Given the description of an element on the screen output the (x, y) to click on. 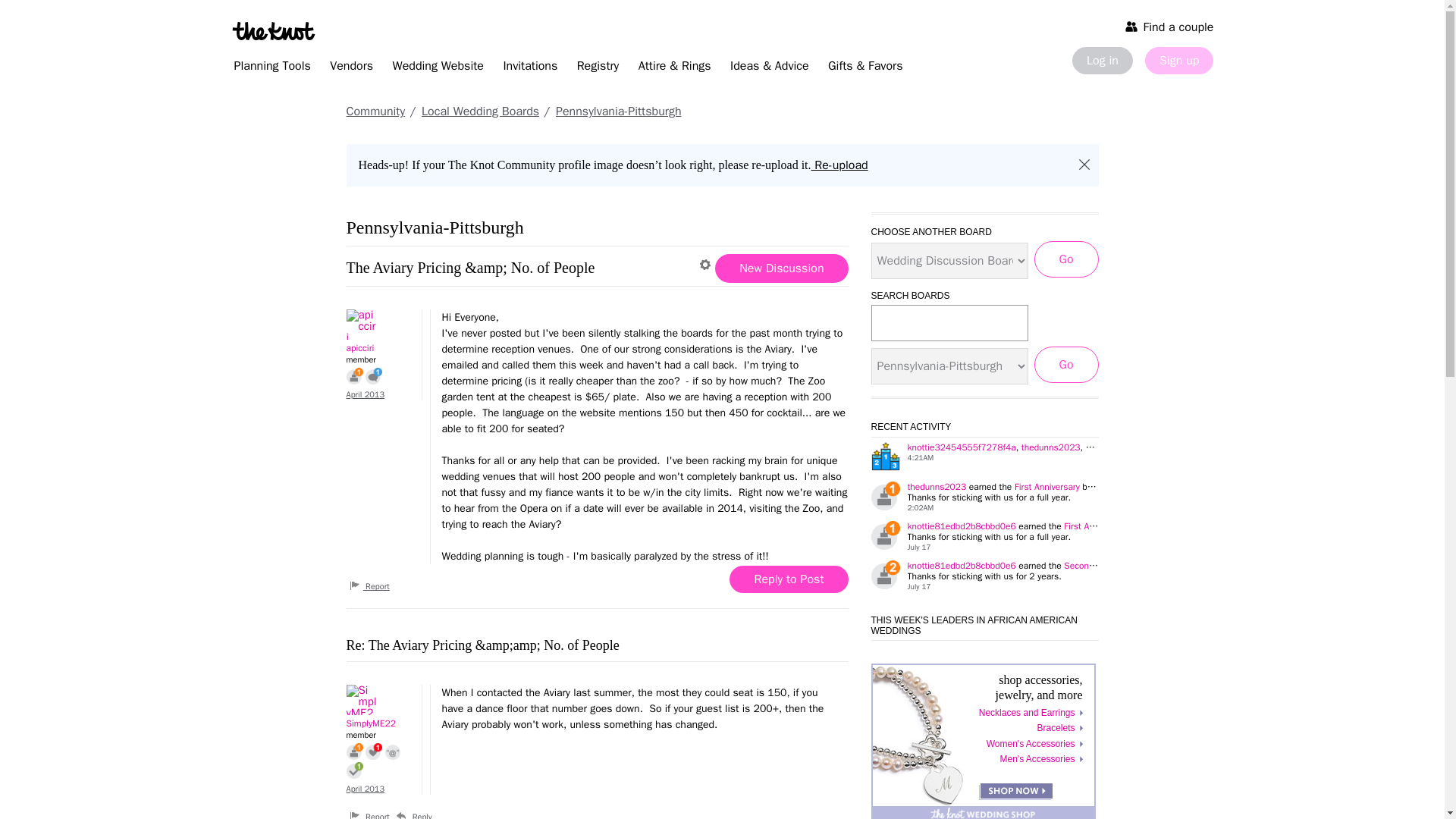
April 26, 2013 3:24PM (365, 394)
Go (1066, 258)
Report (369, 585)
5 Love Its (373, 751)
Vendors (350, 68)
Go (1066, 364)
Name Dropper (392, 751)
member (379, 359)
Log in (1101, 60)
member (379, 735)
April 26, 2013 4:25PM (365, 787)
Report (369, 814)
Find a couple (1169, 25)
Sign up (1178, 60)
Planning Tools (271, 68)
